Given the description of an element on the screen output the (x, y) to click on. 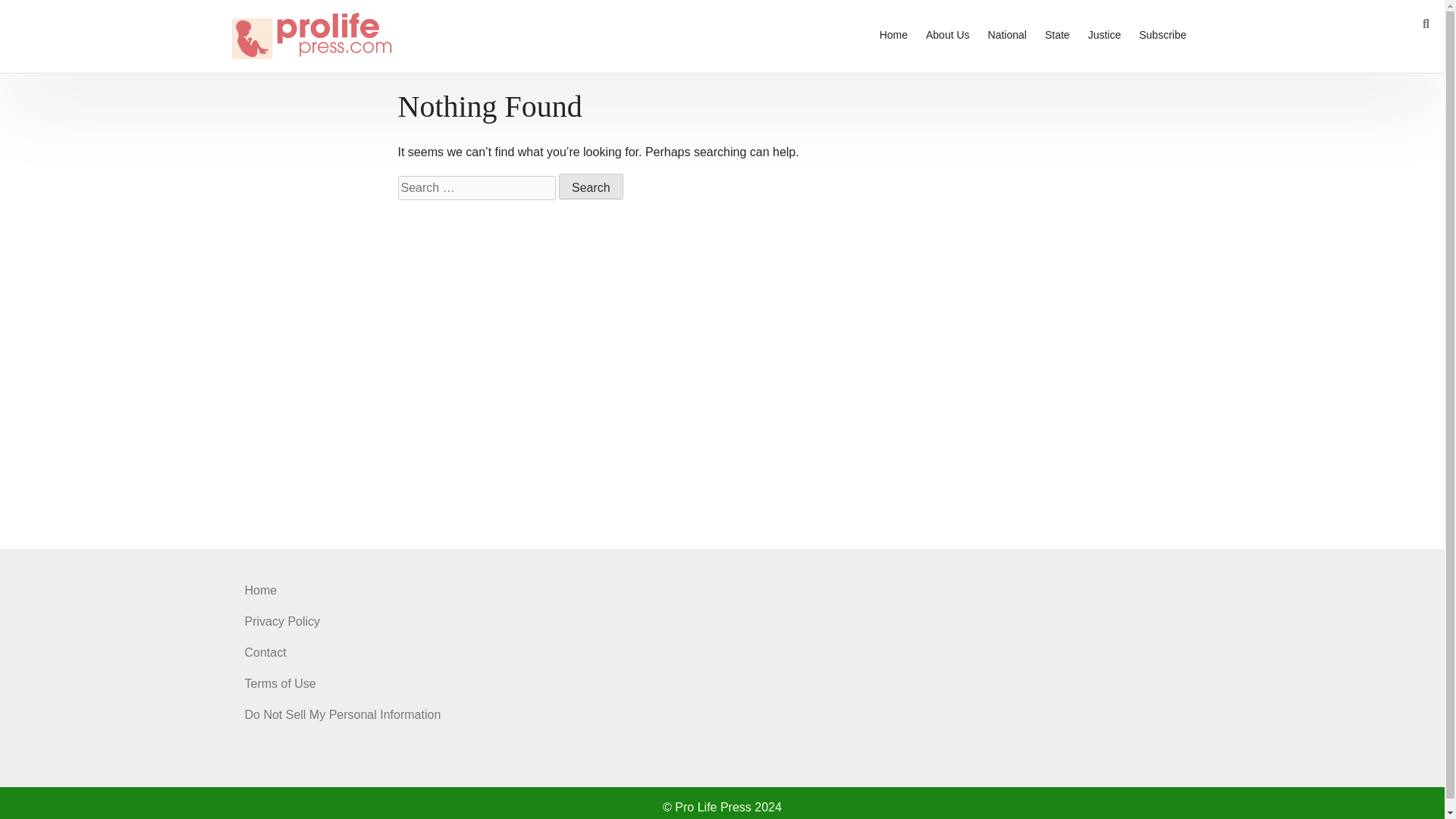
National (1006, 35)
Home (893, 35)
State (1056, 35)
Pro Life Press (290, 82)
Justice (1104, 35)
Search (591, 186)
Home (260, 590)
Privacy Policy (282, 621)
About Us (947, 35)
Subscribe (1162, 35)
Search (591, 186)
Terms of Use (279, 683)
Search (591, 186)
Contact (264, 652)
Do Not Sell My Personal Information (342, 714)
